Given the description of an element on the screen output the (x, y) to click on. 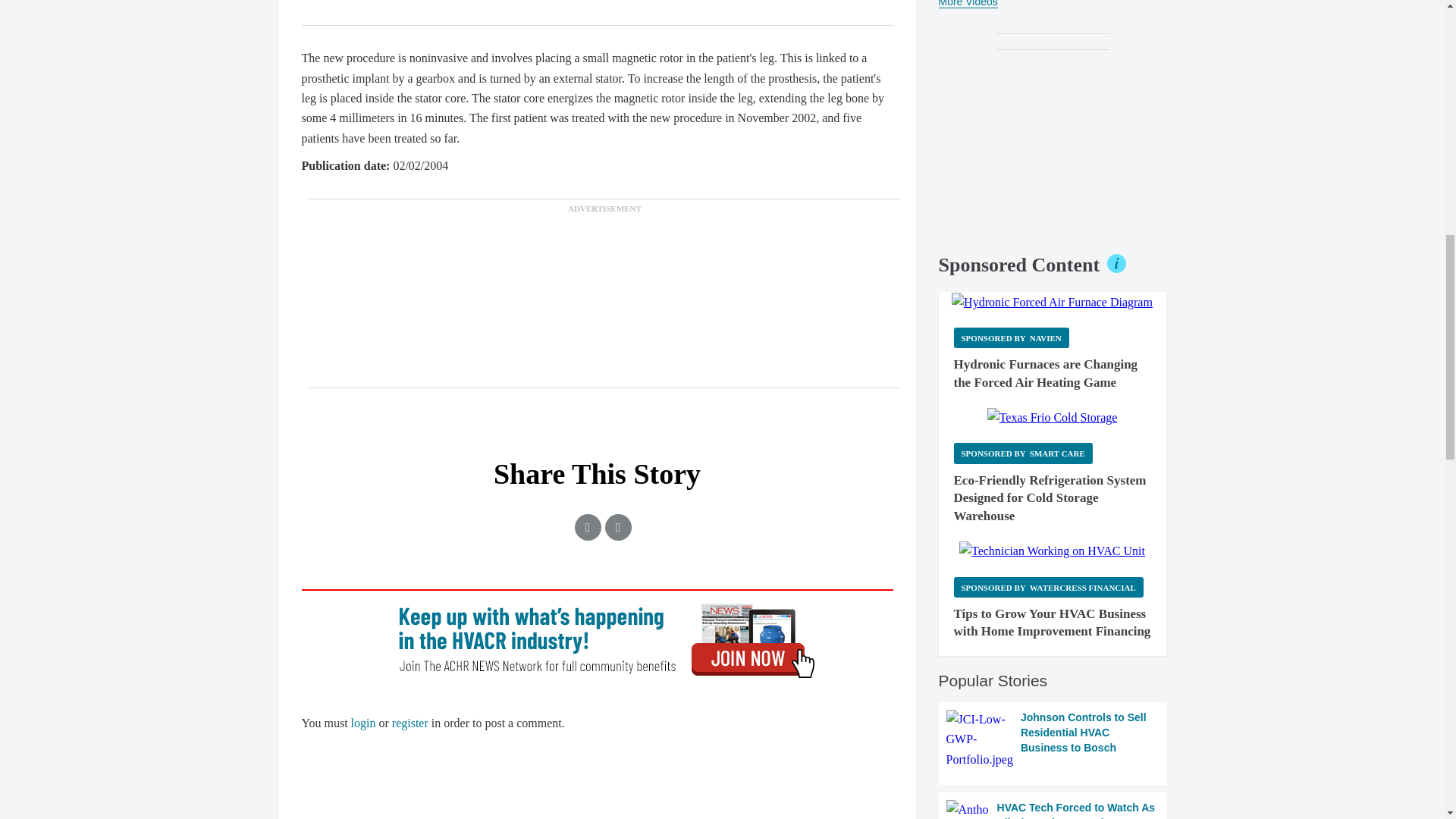
Johnson Controls to Sell Residential HVAC Business to Bosch (1052, 739)
Texas Frio Cold Storage (1052, 417)
Sponsored by Watercress Financial (1047, 586)
Sponsored by Smart Care (1023, 453)
Technician Working on HVAC Unit (1051, 551)
Hydronic Forced Air Furnace Diagram (1052, 302)
HVAC Tech Forced to Watch As All His Tools Are Stolen (1052, 809)
Sponsored by Navien (1010, 337)
